Given the description of an element on the screen output the (x, y) to click on. 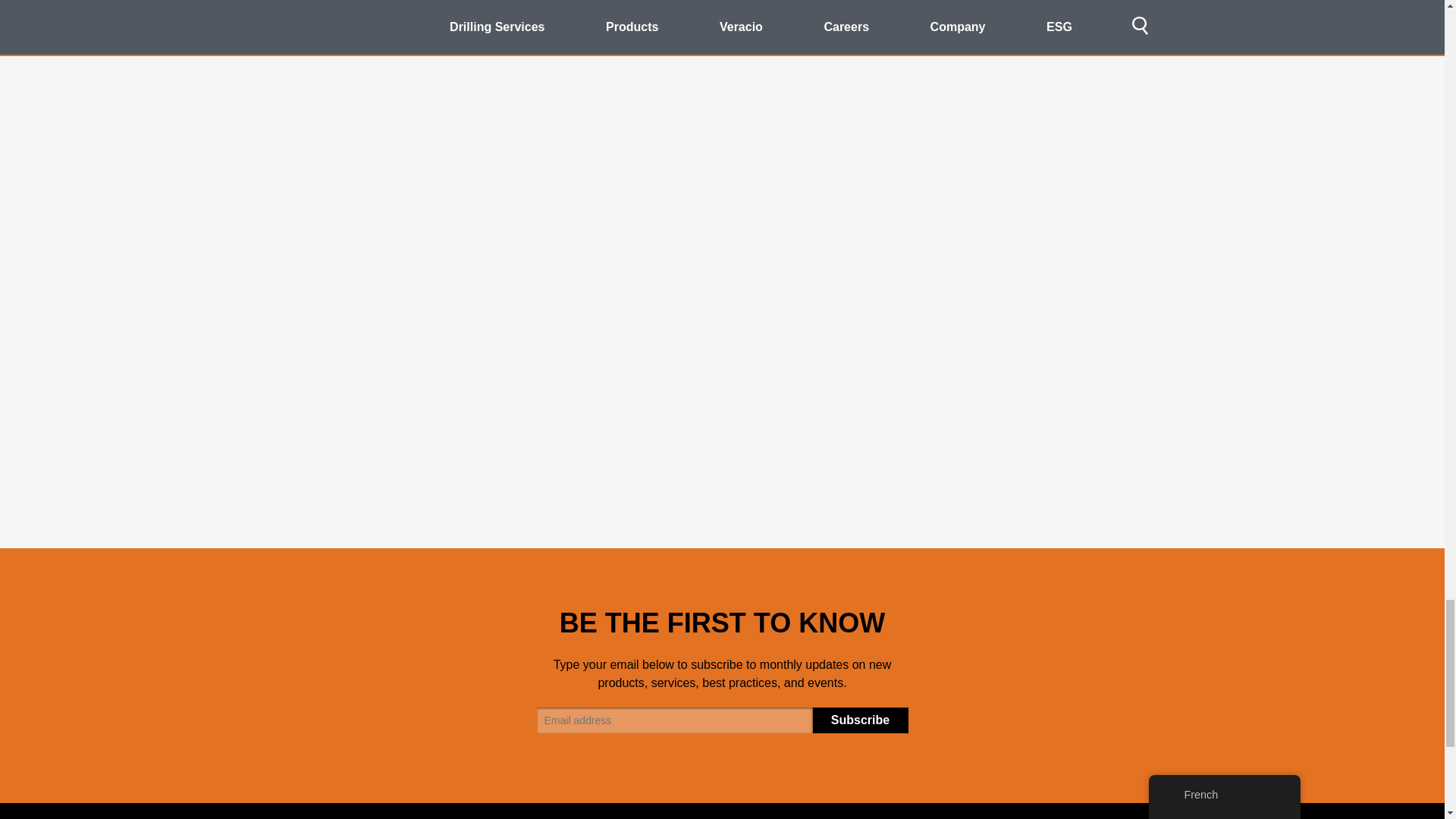
Subscribe (860, 720)
